Given the description of an element on the screen output the (x, y) to click on. 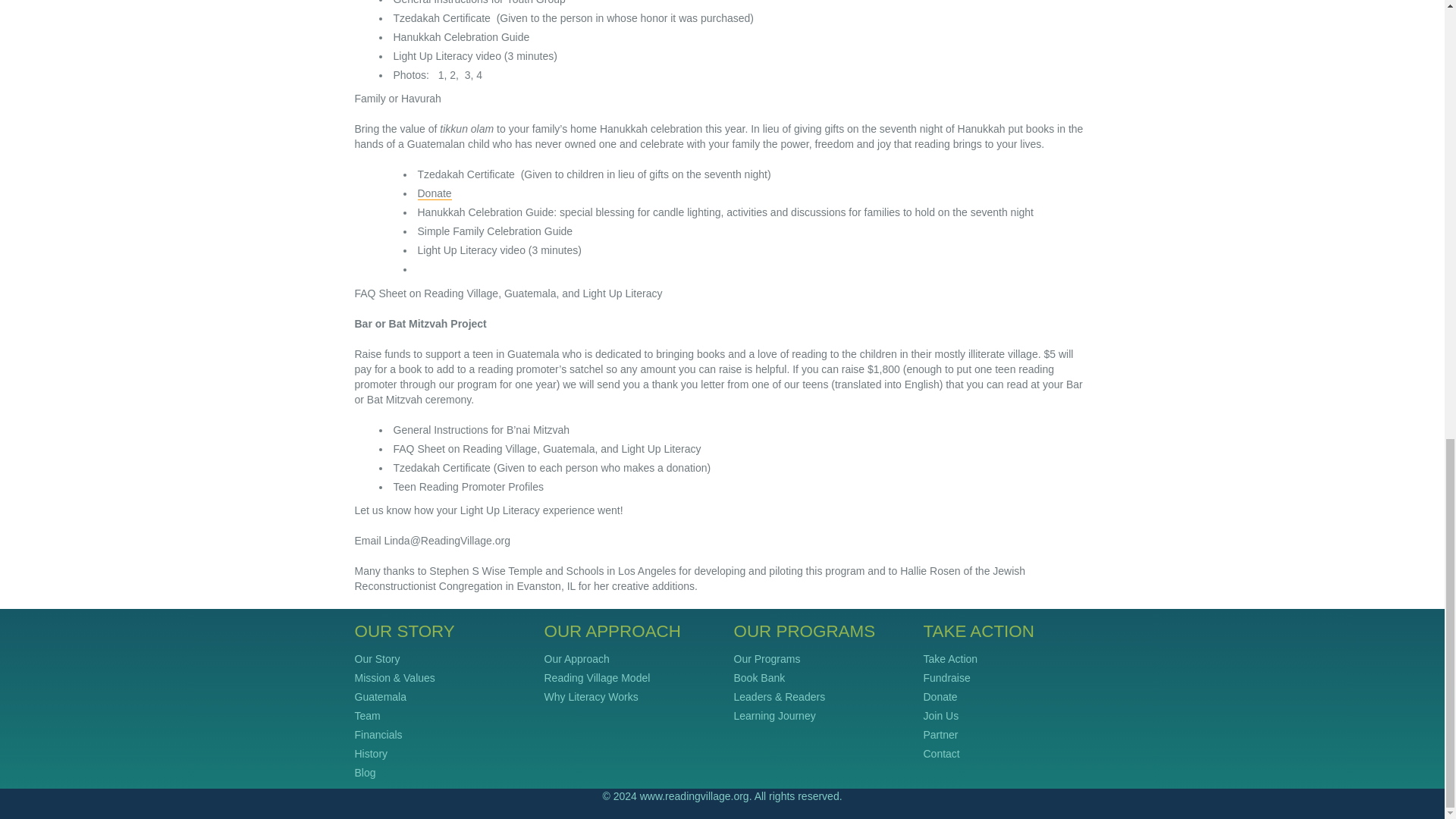
Our Programs (766, 658)
Book Bank (759, 677)
Financials (379, 734)
Our Story (377, 658)
Why Literacy Works (591, 696)
Team (367, 715)
Our Approach (577, 658)
Take Action (950, 658)
Learning Journey (774, 715)
Donate (433, 193)
